Given the description of an element on the screen output the (x, y) to click on. 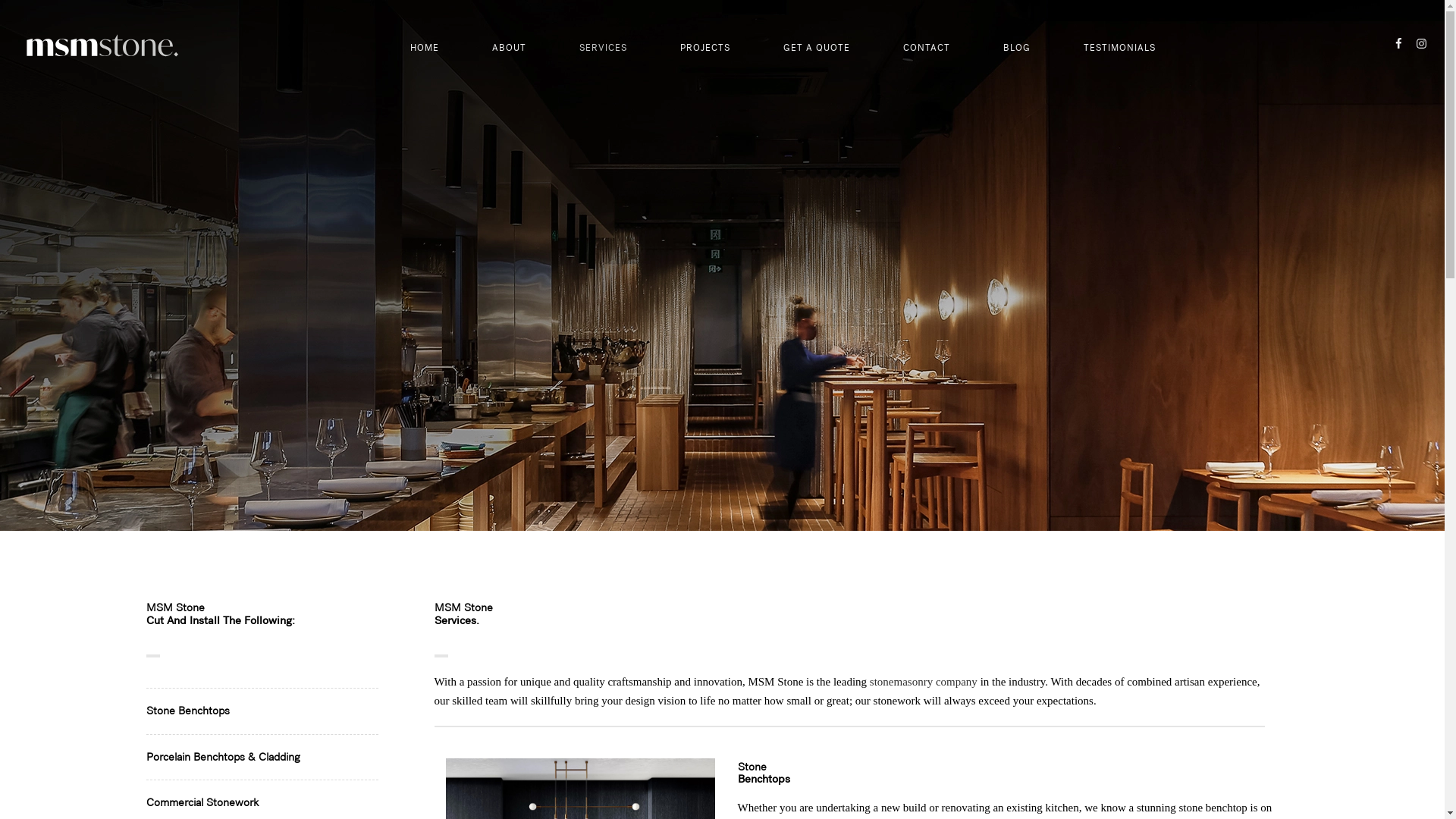
SERVICES Element type: text (603, 41)
PROJECTS Element type: text (705, 41)
CONTACT Element type: text (926, 41)
stonemasonry company Element type: text (923, 681)
Commercial Stonework Element type: text (201, 802)
SUPERIOR STONEMASONS Element type: hover (102, 45)
ABOUT Element type: text (508, 41)
GET A QUOTE Element type: text (816, 41)
Porcelain Benchtops & Cladding Element type: text (222, 755)
BLOG Element type: text (1016, 41)
Stone Benchtops Element type: text (187, 710)
HOME Element type: text (424, 41)
TESTIMONIALS Element type: text (1119, 41)
